Given the description of an element on the screen output the (x, y) to click on. 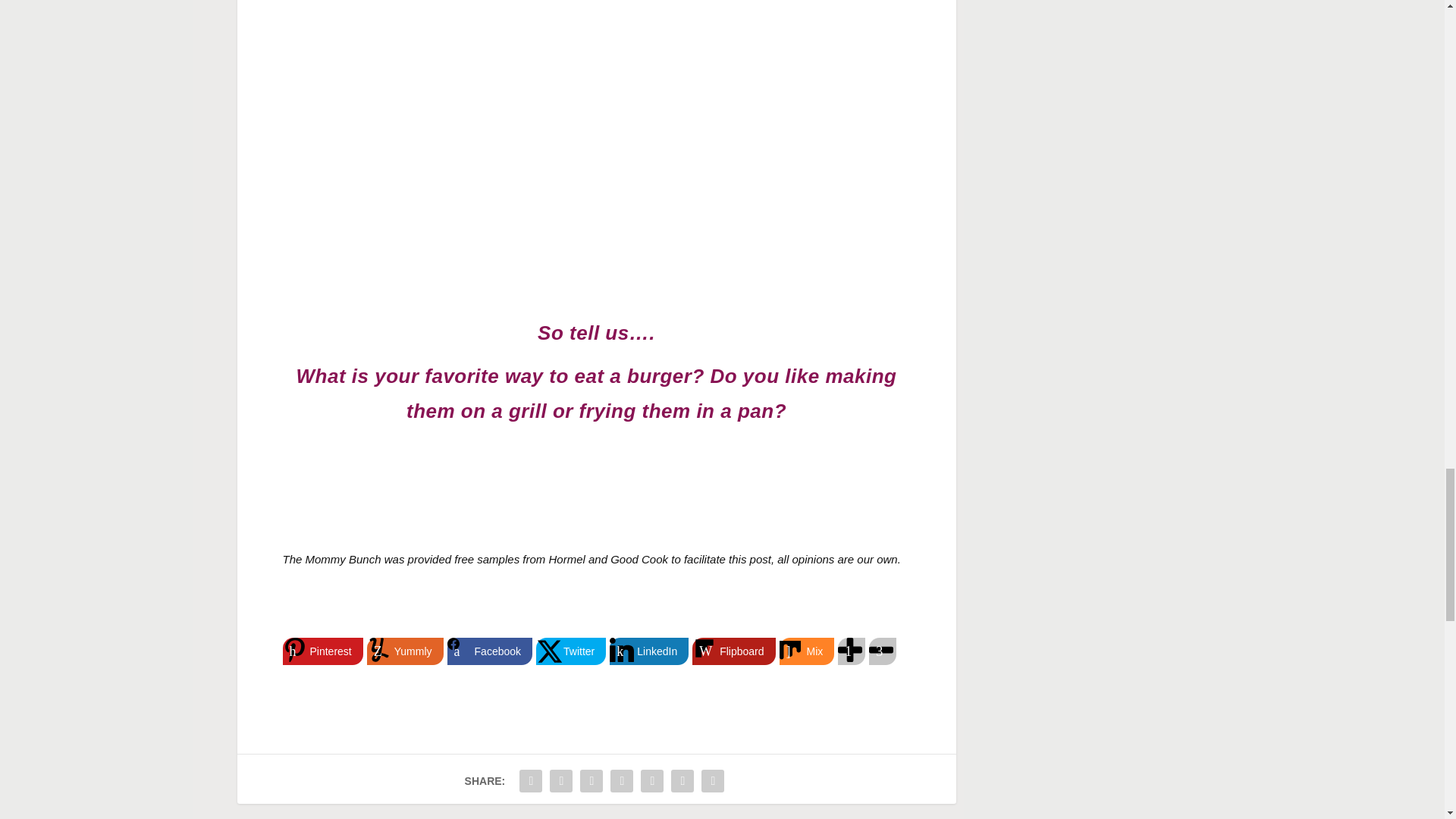
Facebook (489, 651)
Pinterest (322, 651)
Yummly (405, 651)
Share on Pinterest (322, 651)
Share on Yummly (405, 651)
